Given the description of an element on the screen output the (x, y) to click on. 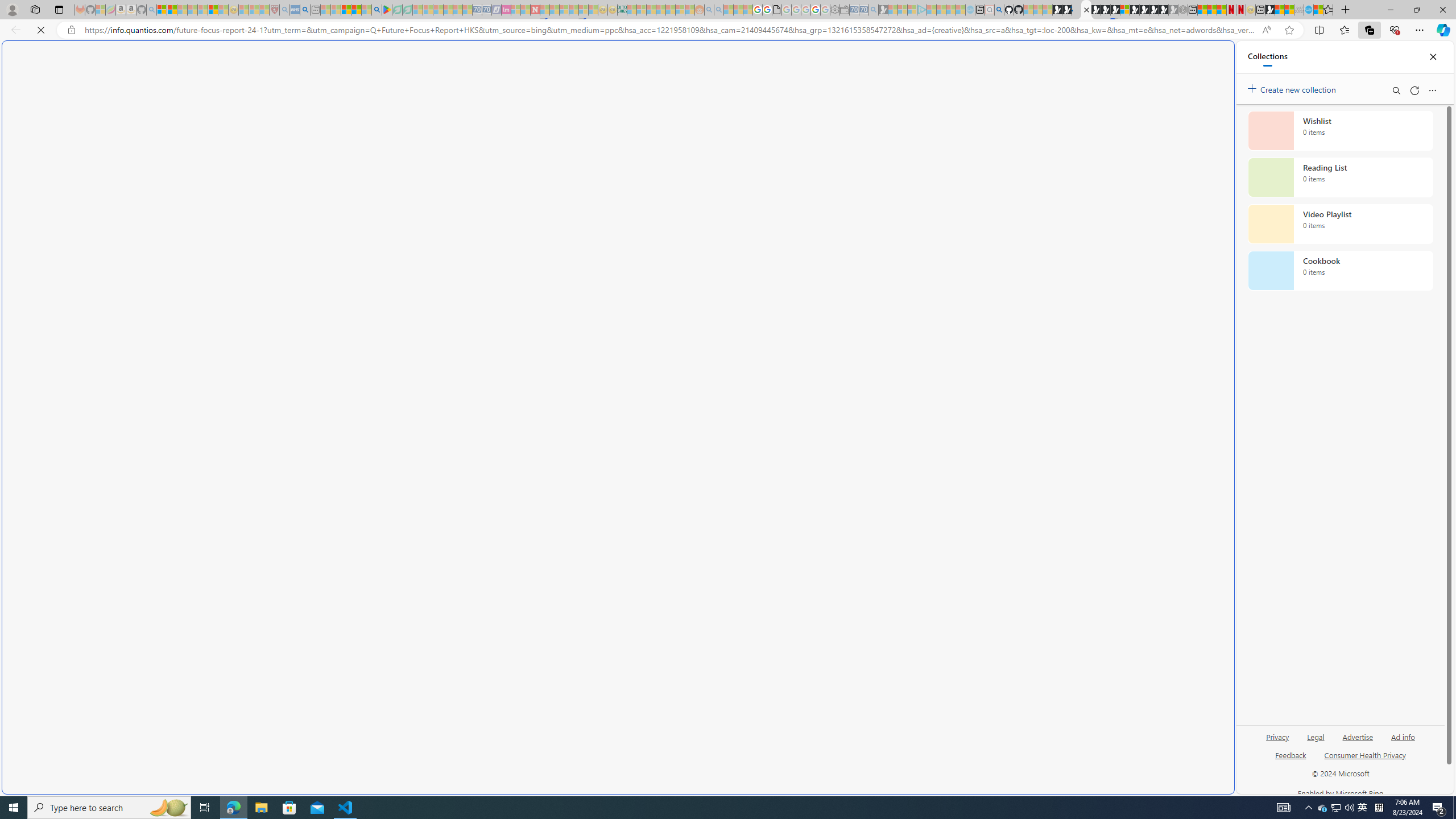
Video Playlist collection, 0 items (1339, 223)
Frequently visited (965, 151)
github - Search (999, 9)
More options menu (1432, 90)
